Given the description of an element on the screen output the (x, y) to click on. 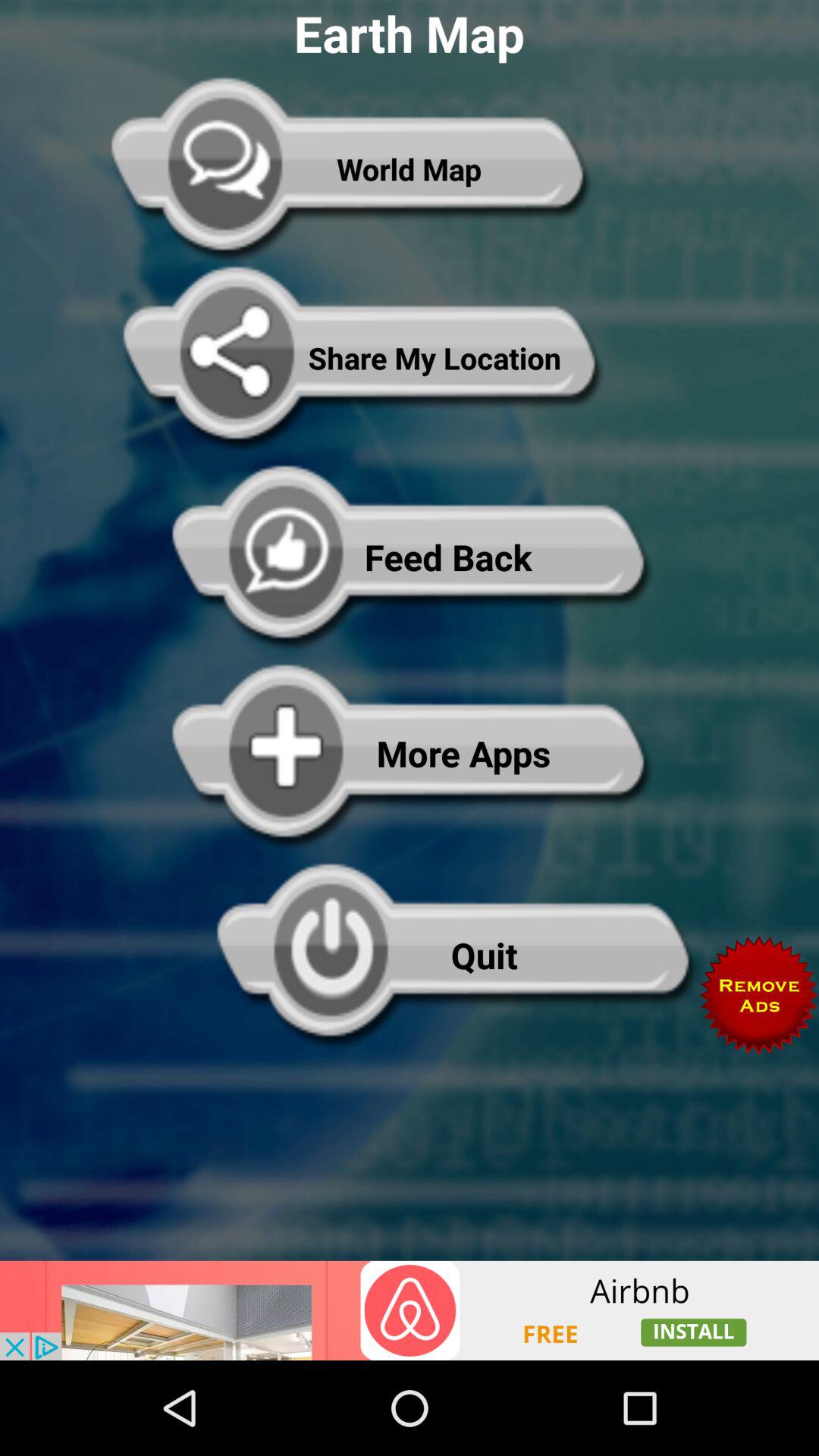
go to advertising partner (409, 1310)
